Given the description of an element on the screen output the (x, y) to click on. 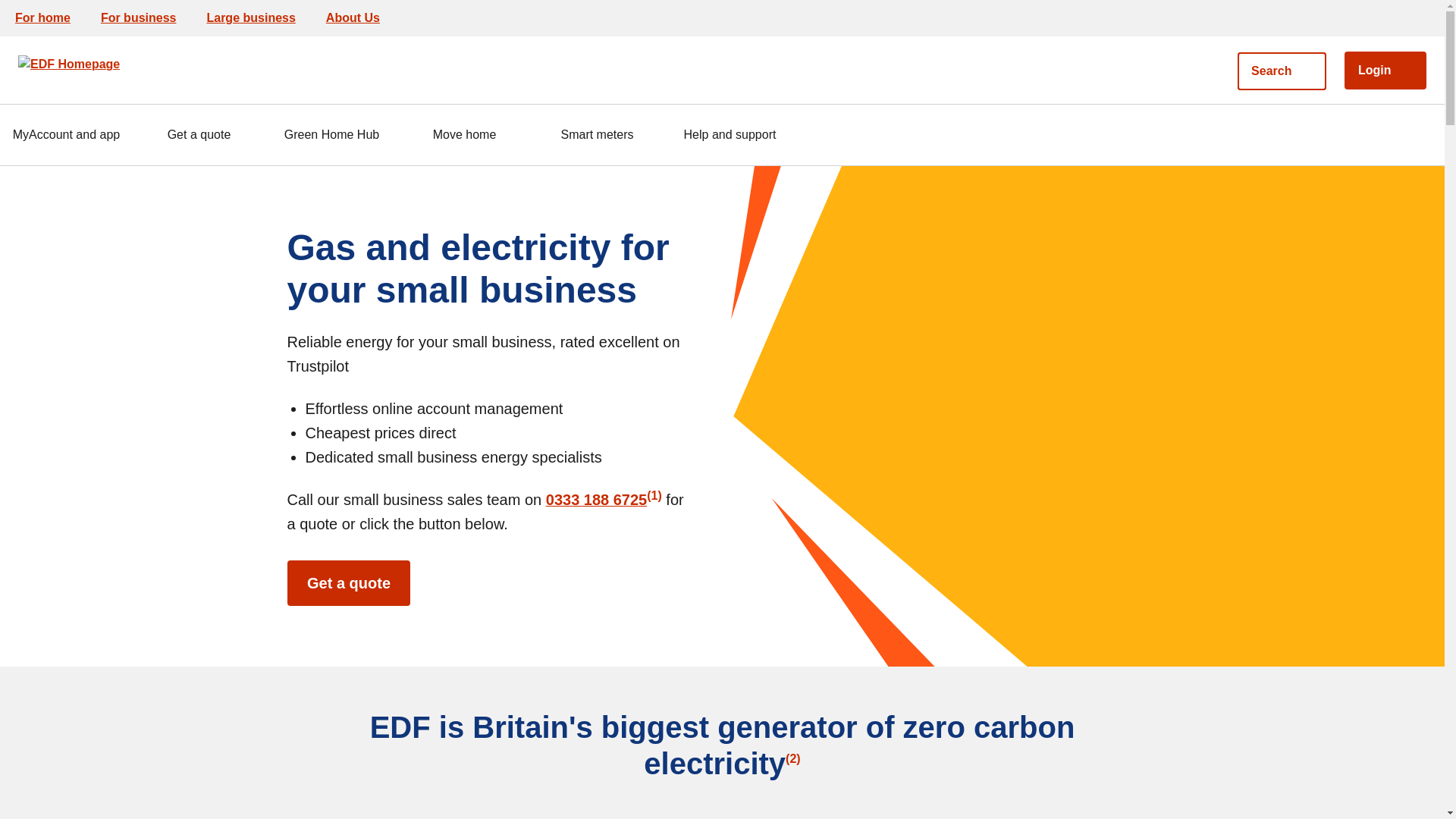
Search (1281, 70)
Search (1195, 58)
Search (1281, 70)
Search (1195, 58)
